Given the description of an element on the screen output the (x, y) to click on. 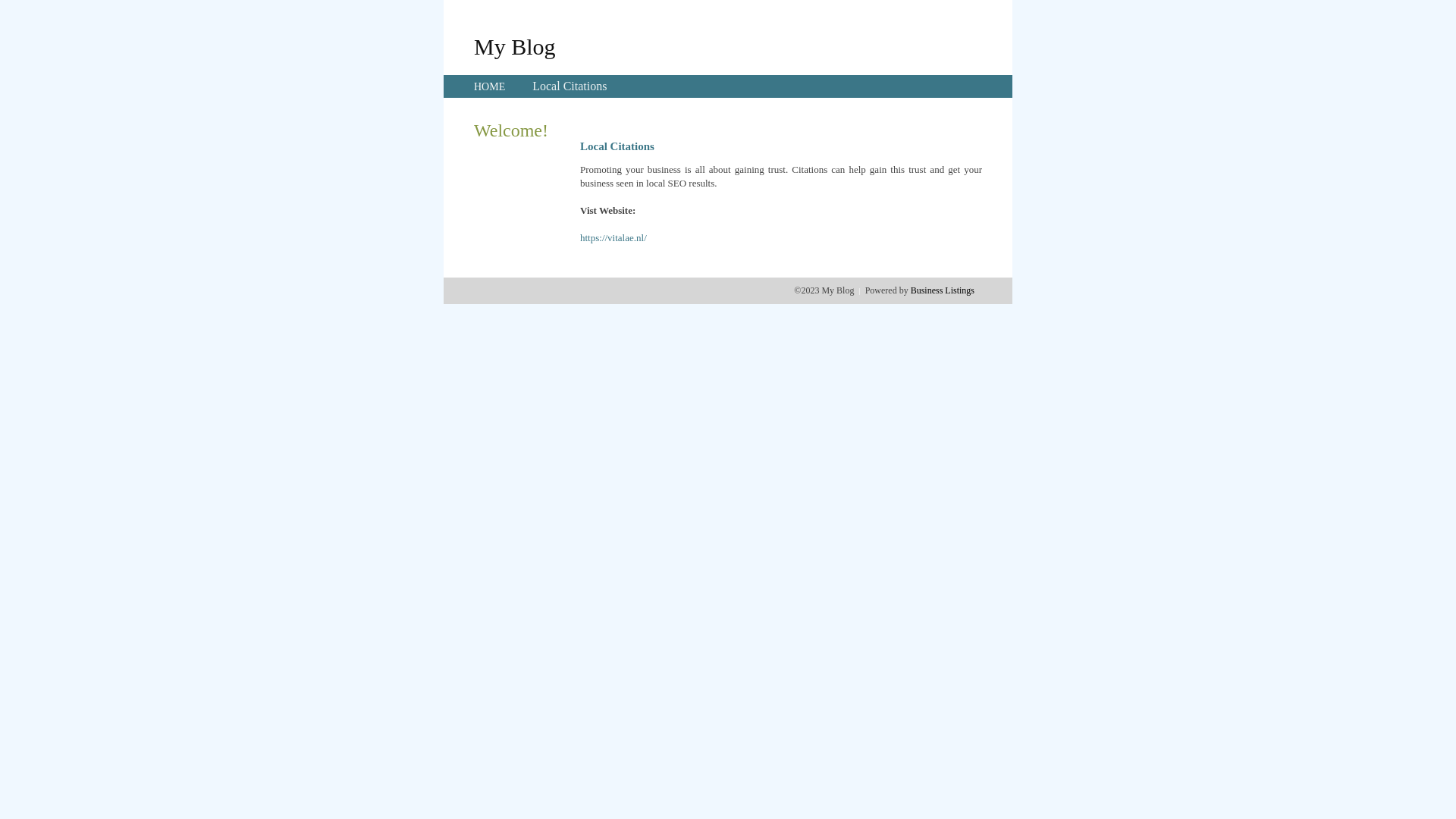
HOME Element type: text (489, 86)
https://vitalae.nl/ Element type: text (613, 237)
Local Citations Element type: text (569, 85)
My Blog Element type: text (514, 46)
Business Listings Element type: text (942, 290)
